Given the description of an element on the screen output the (x, y) to click on. 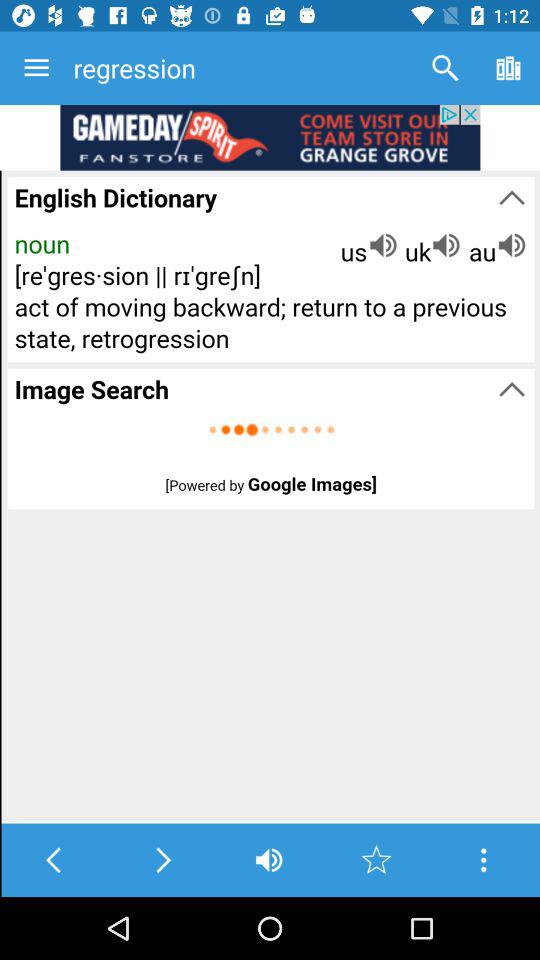
go to next (161, 859)
